Given the description of an element on the screen output the (x, y) to click on. 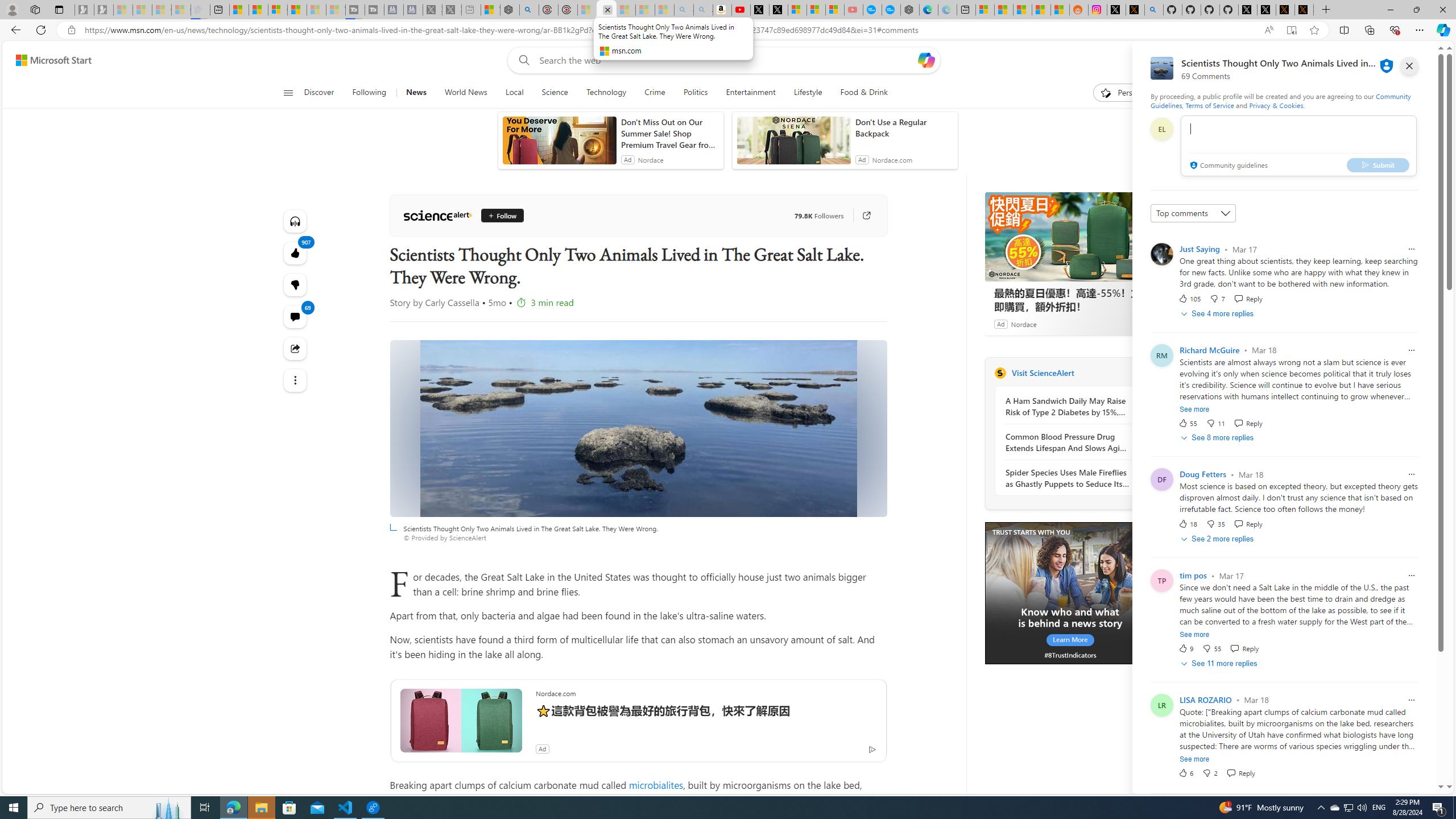
Reply Reply Comment (1240, 772)
Entertainment (750, 92)
Amazon Echo Dot PNG - Search Images - Sleeping (702, 9)
poe - Search (529, 9)
Lifestyle (807, 92)
Enter your search term (726, 59)
